Given the description of an element on the screen output the (x, y) to click on. 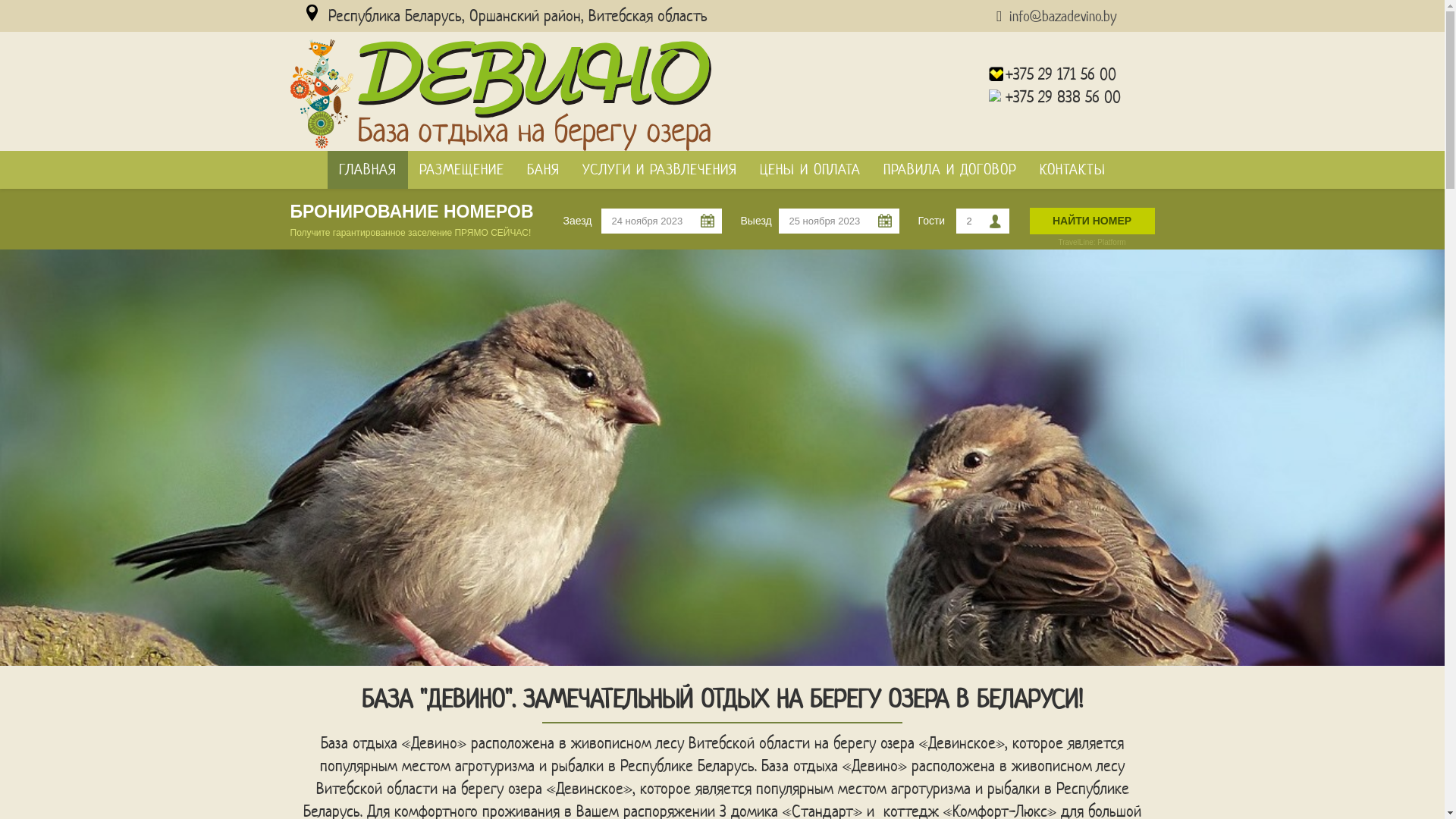
info@bazadevino.by Element type: text (1062, 15)
